Given the description of an element on the screen output the (x, y) to click on. 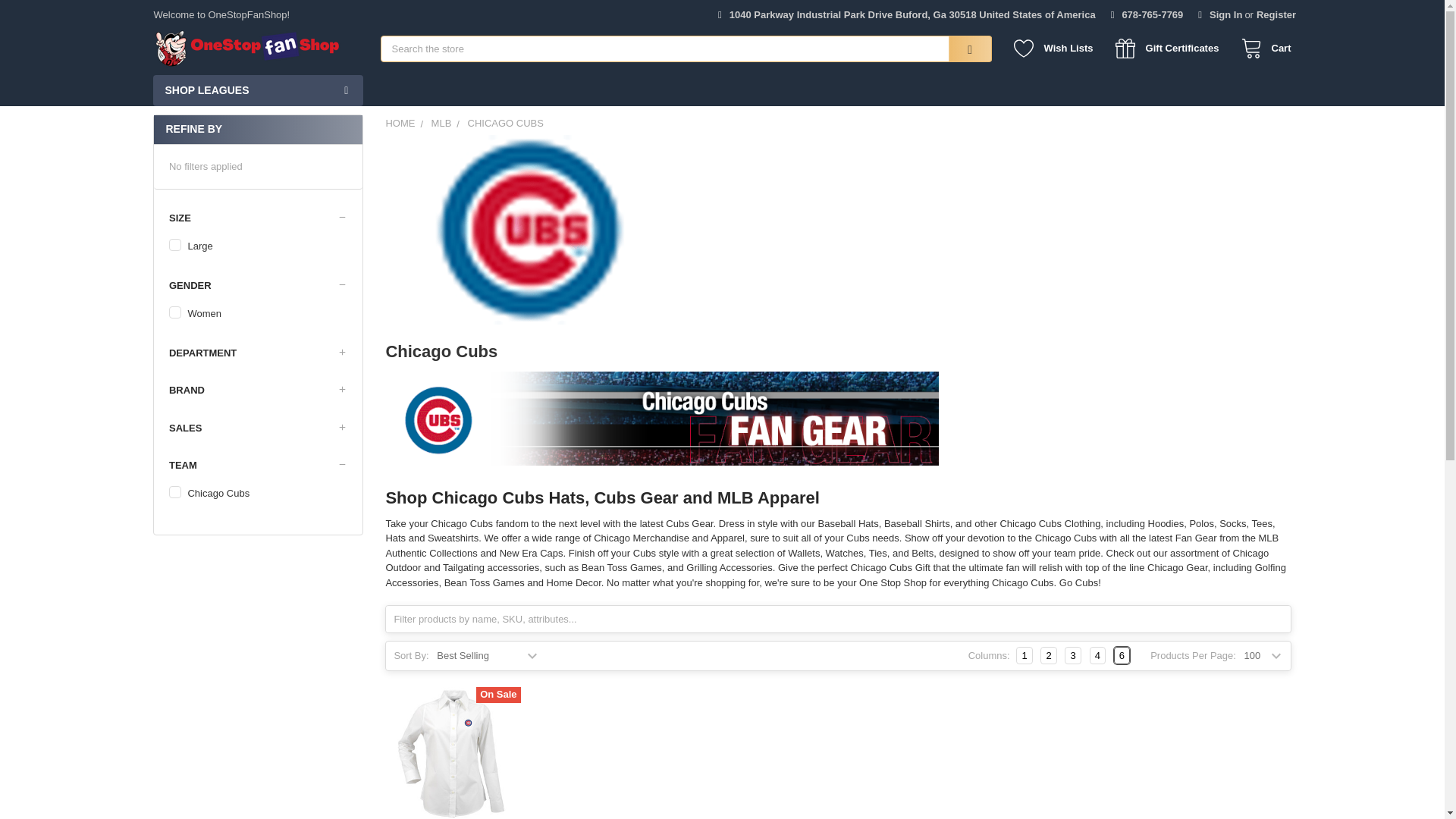
2 (1049, 655)
3 (1072, 655)
Search (960, 49)
SHOP LEAGUES (257, 90)
Gift Certificates (1170, 48)
Sign In (1220, 11)
Gift Certificates (1170, 48)
Wish Lists (1057, 48)
OneStopFanShop (247, 48)
